Given the description of an element on the screen output the (x, y) to click on. 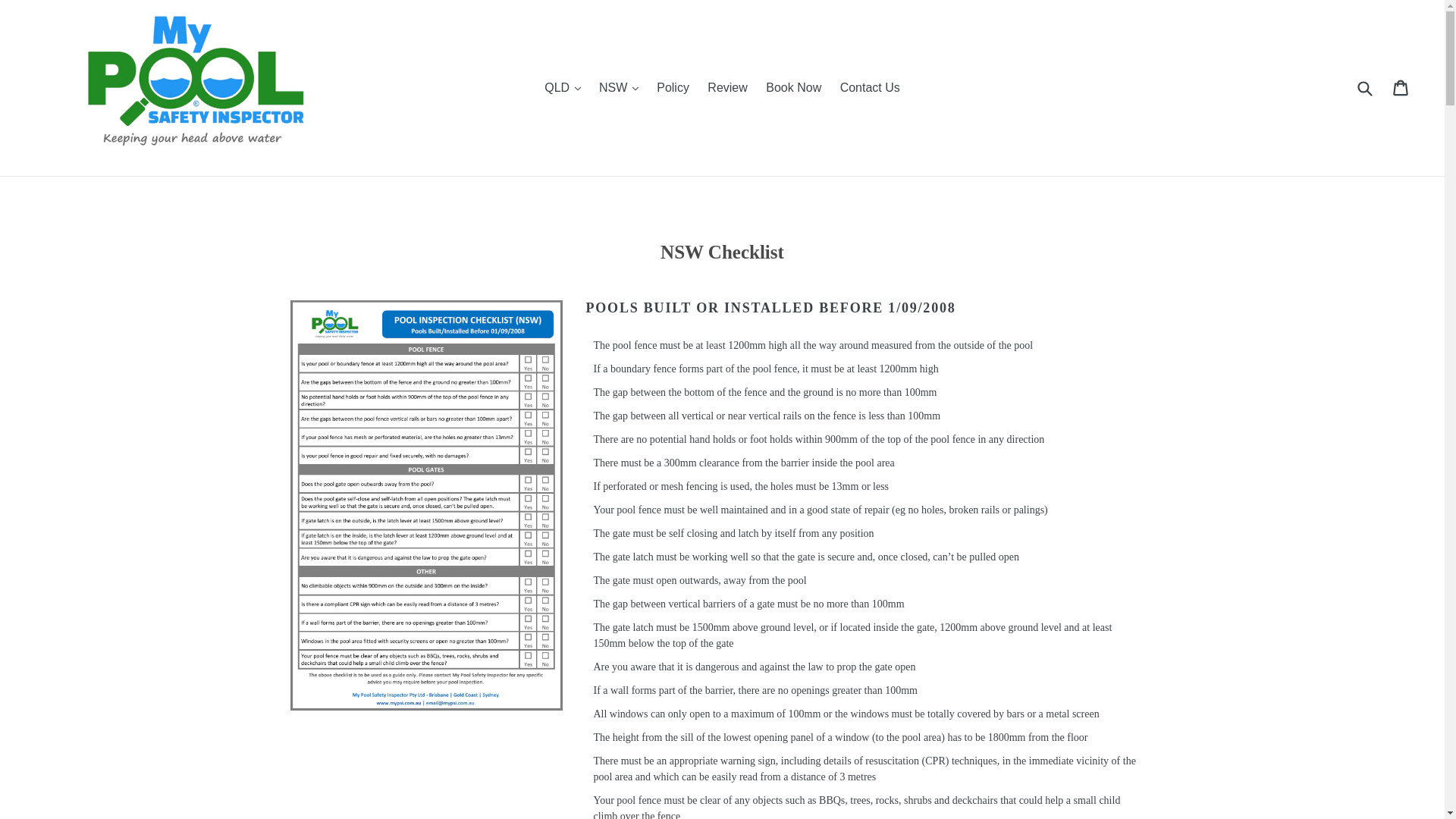
Cart
Cart Element type: text (1401, 87)
Policy Element type: text (672, 87)
Contact Us Element type: text (869, 87)
Review Element type: text (726, 87)
Submit Element type: text (1363, 87)
Book Now Element type: text (793, 87)
